Given the description of an element on the screen output the (x, y) to click on. 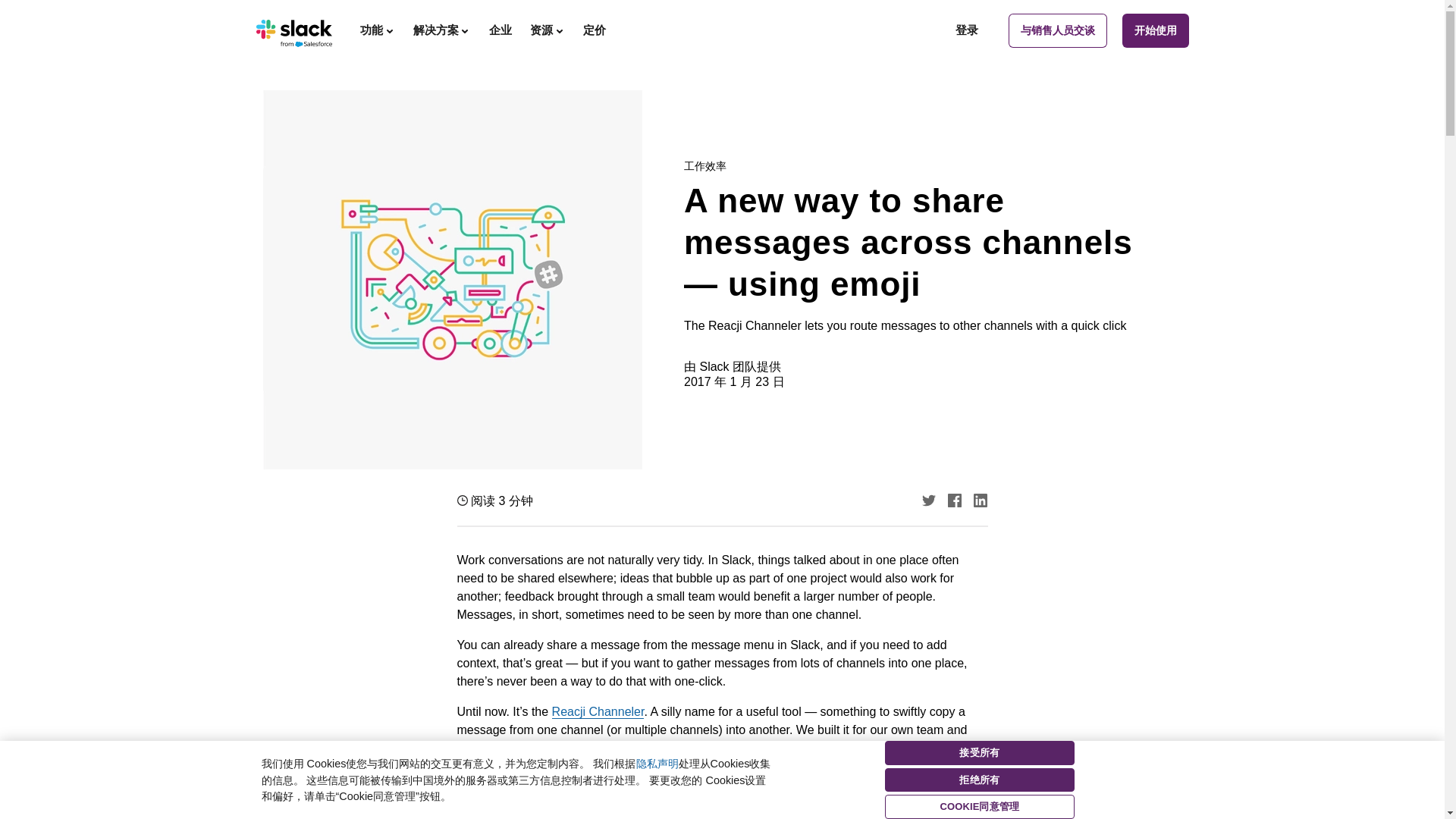
LinkedIn (980, 499)
Twitter (928, 499)
Facebook (953, 499)
